Given the description of an element on the screen output the (x, y) to click on. 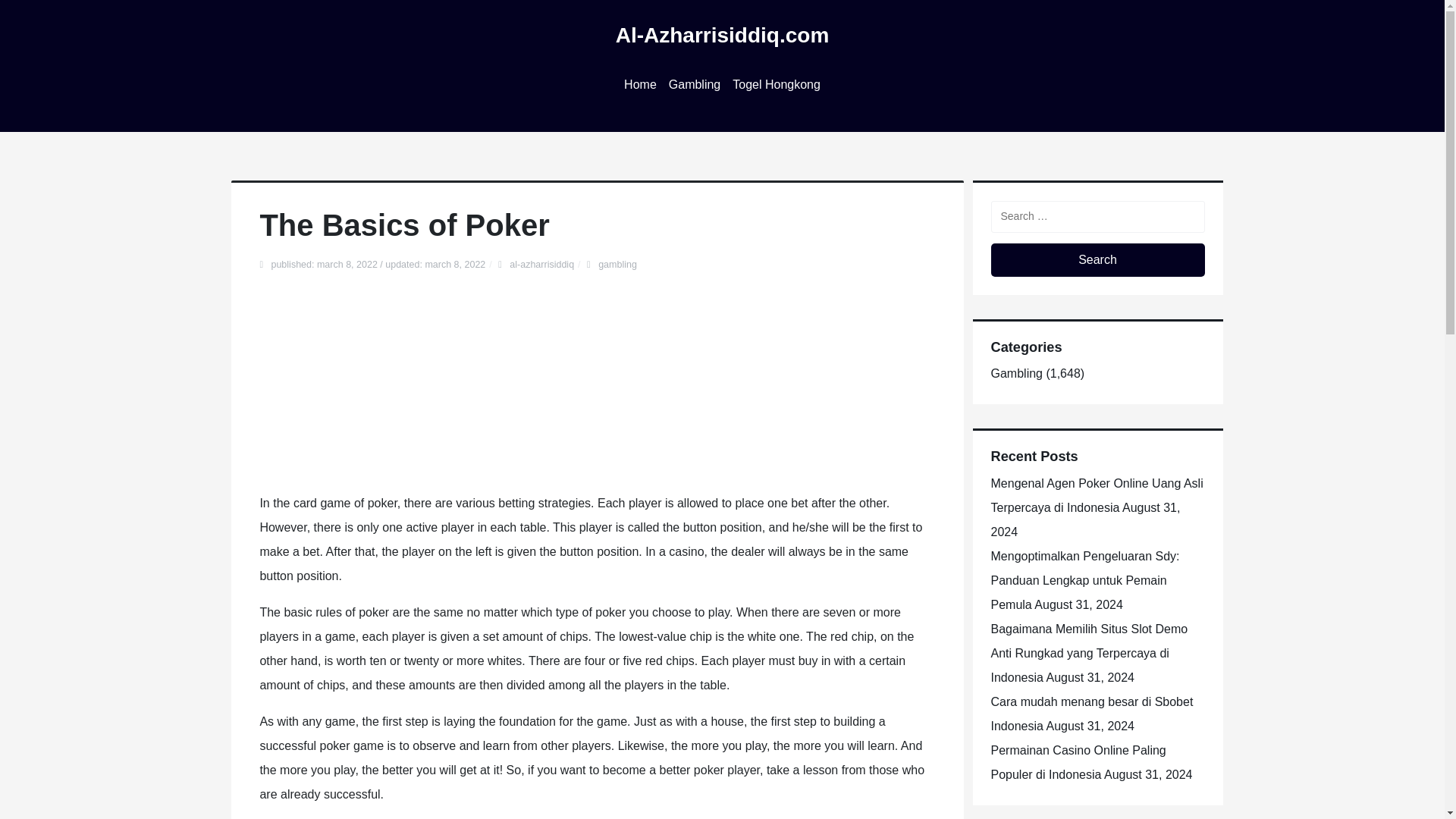
Mengenal Agen Poker Online Uang Asli Terpercaya di Indonesia (1096, 495)
gambling (617, 264)
Togel Hongkong (776, 84)
Gambling (694, 84)
al-azharrisiddiq (541, 264)
Al-Azharrisiddiq.com (722, 34)
Gambling (1016, 373)
Togel Hongkong (776, 84)
